Given the description of an element on the screen output the (x, y) to click on. 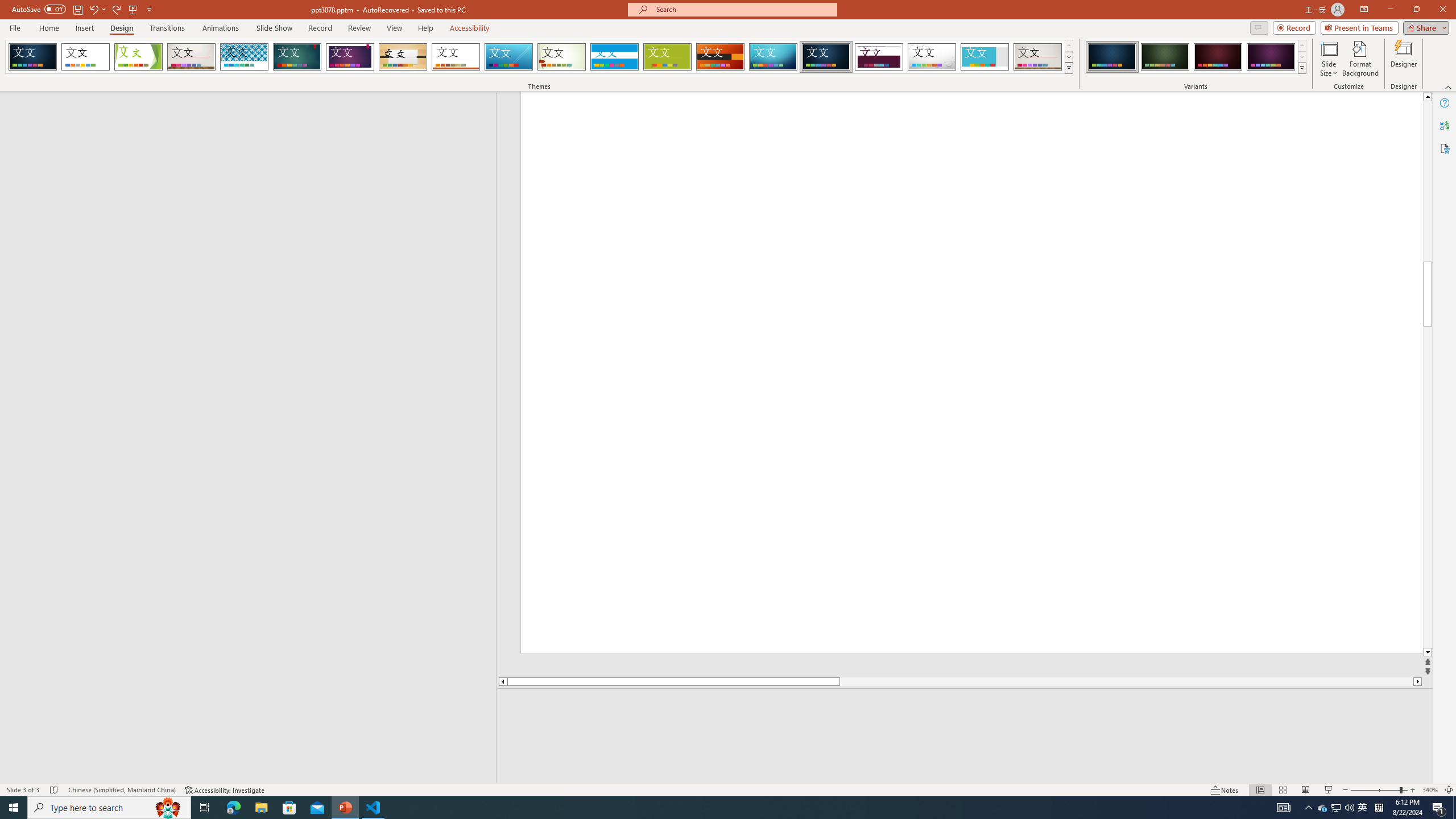
Retrospect (455, 56)
Dividend (879, 56)
Ion Boardroom (350, 56)
Slice (508, 56)
Frame (984, 56)
